Given the description of an element on the screen output the (x, y) to click on. 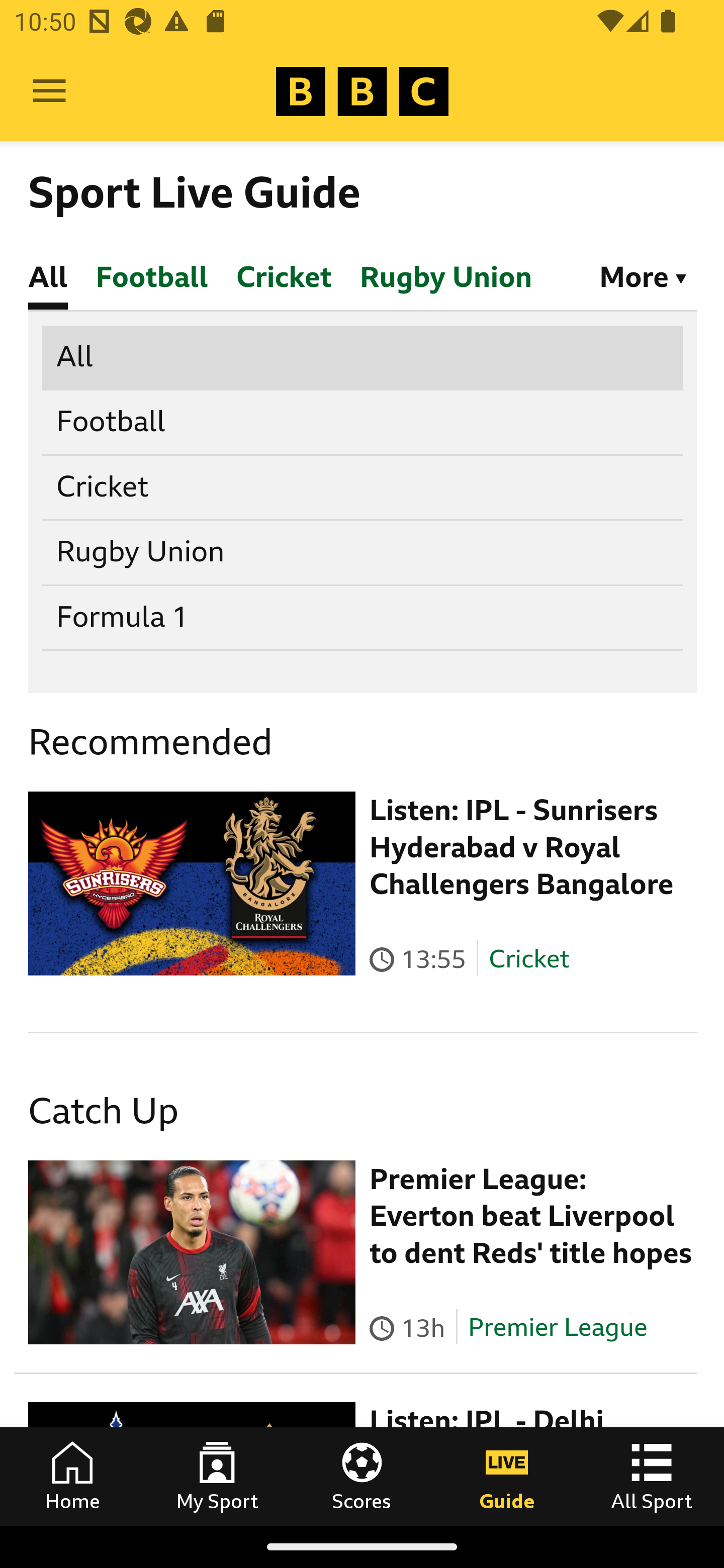
Open Menu (49, 91)
All (362, 356)
Football (362, 422)
Cricket (362, 486)
Rugby Union (362, 552)
Formula 1 (362, 616)
Cricket (528, 957)
Premier League (557, 1327)
Home (72, 1475)
My Sport (216, 1475)
Scores (361, 1475)
All Sport (651, 1475)
